Given the description of an element on the screen output the (x, y) to click on. 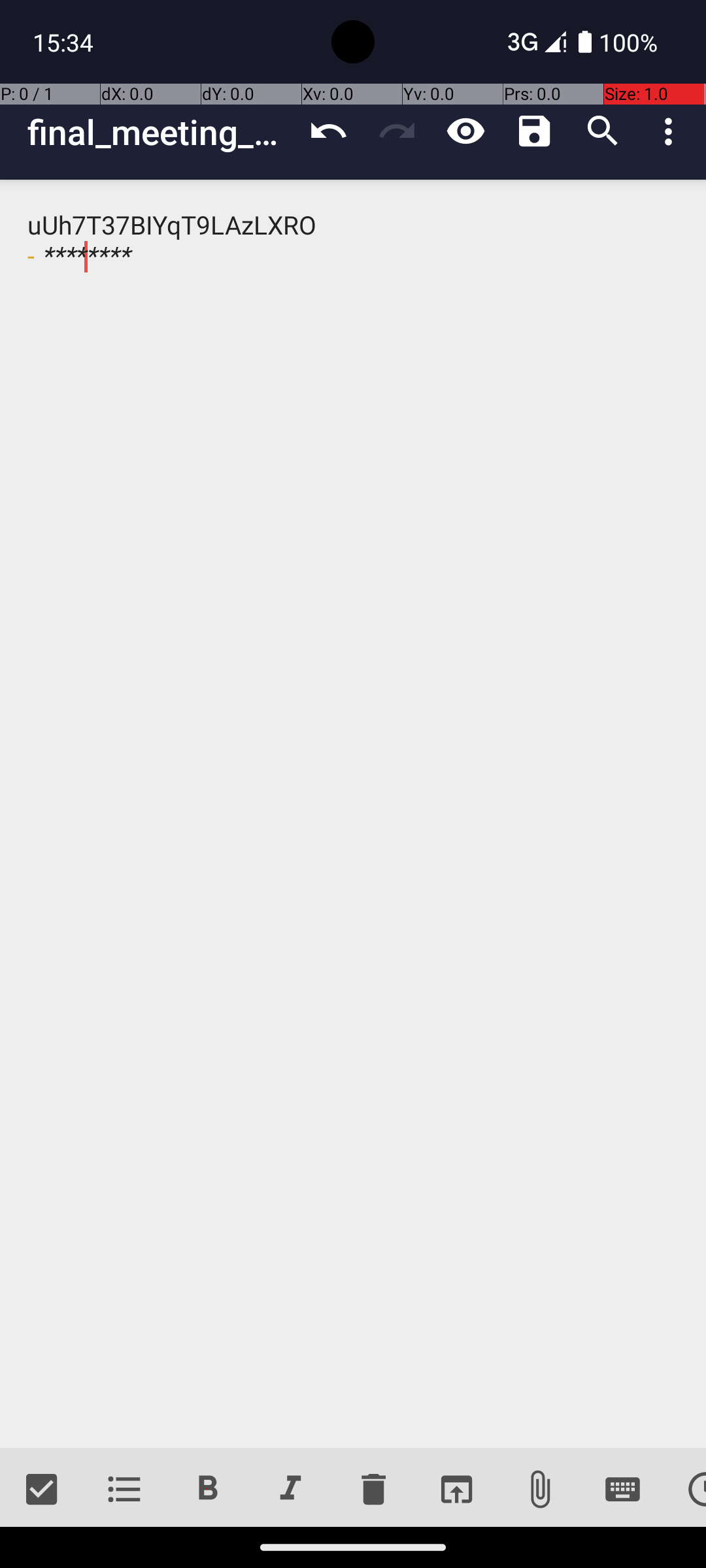
final_meeting_notes_project_team Element type: android.widget.TextView (160, 131)
uUh7T37BIYqT9LAzLXRO
- ******** Element type: android.widget.EditText (353, 813)
